Given the description of an element on the screen output the (x, y) to click on. 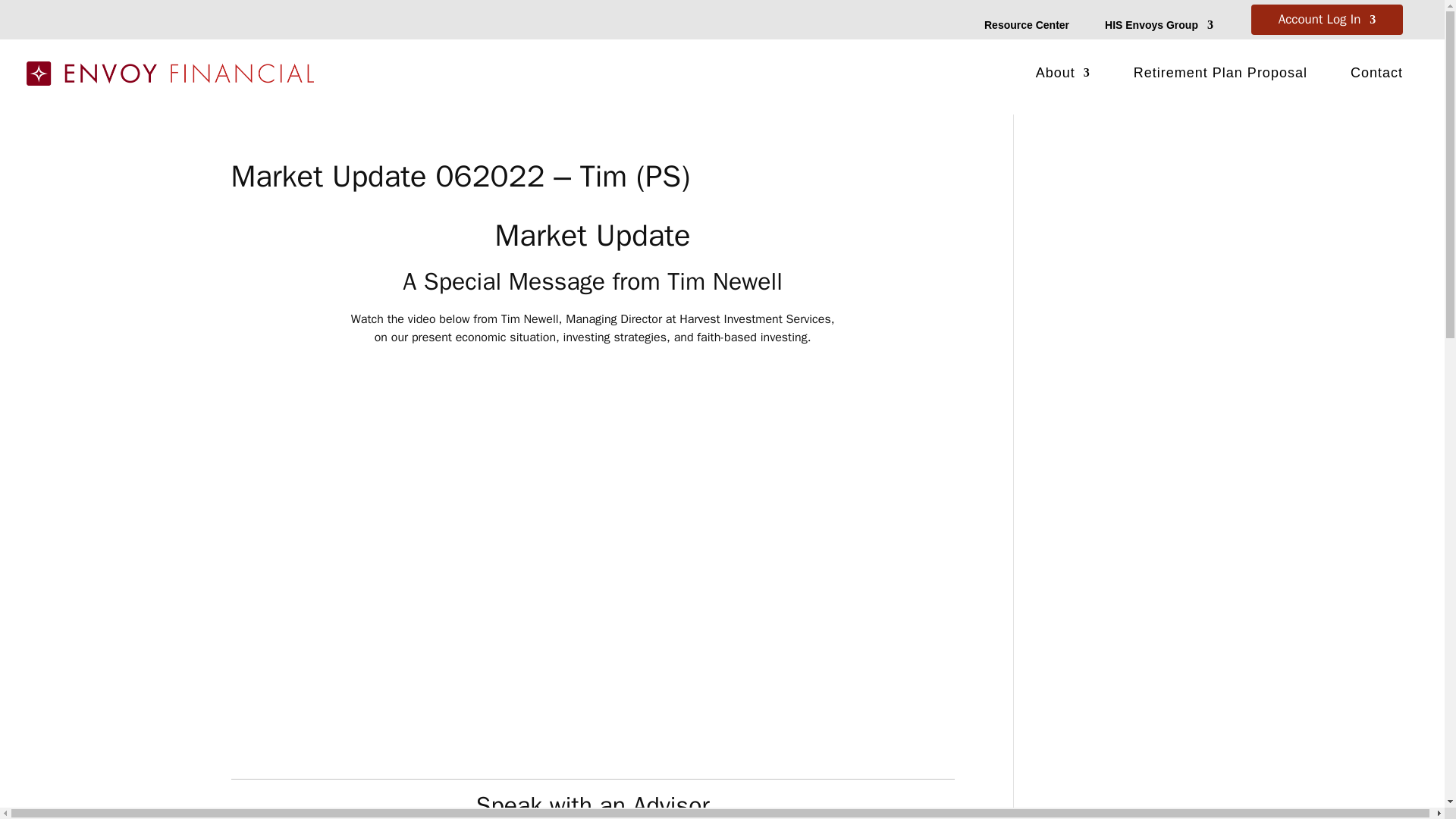
About (1062, 75)
Resource Center (1026, 27)
HIS Envoys Group (1158, 27)
Retirement Plan Proposal (1220, 75)
Account Log In (1326, 22)
Contact (1377, 75)
